Given the description of an element on the screen output the (x, y) to click on. 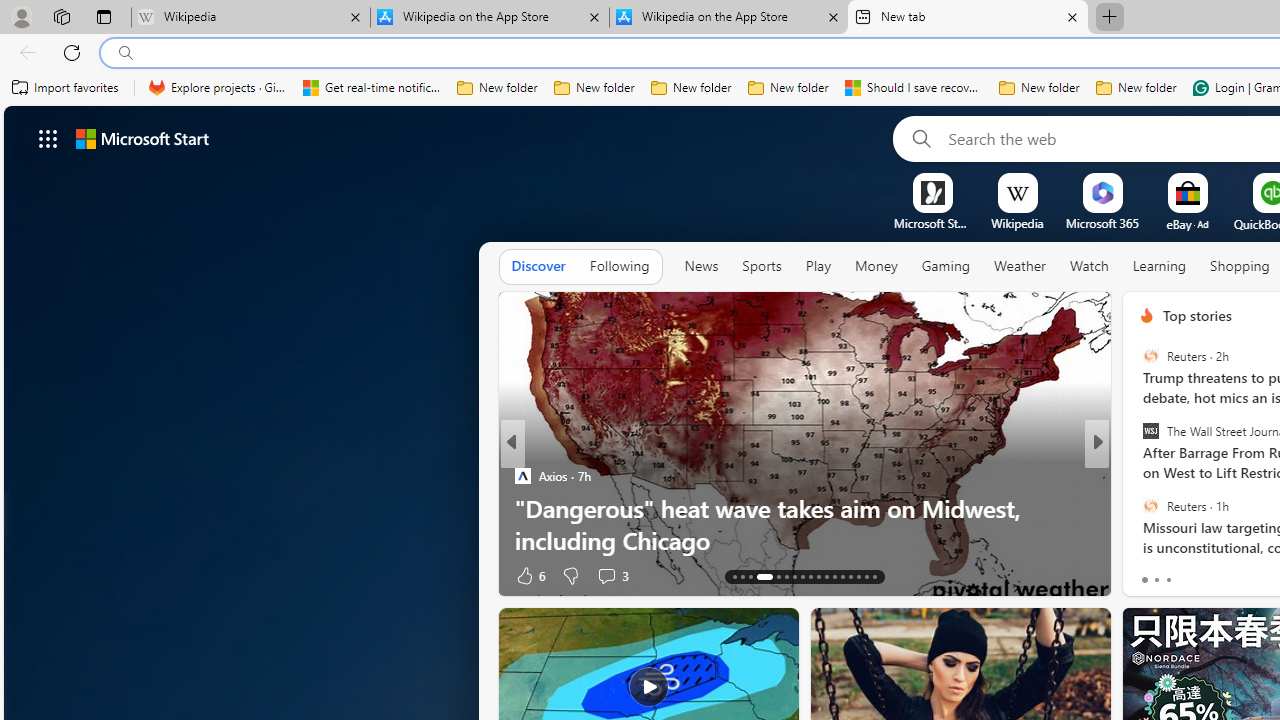
119 Like (1151, 574)
AutomationID: tab-24 (833, 576)
Should I save recovered Word documents? - Microsoft Support (913, 88)
IT Concept (1158, 507)
Top stories (1196, 315)
New folder (1136, 88)
Auto Travel World (1138, 475)
AutomationID: tab-26 (850, 576)
AutomationID: tab-13 (733, 576)
